Given the description of an element on the screen output the (x, y) to click on. 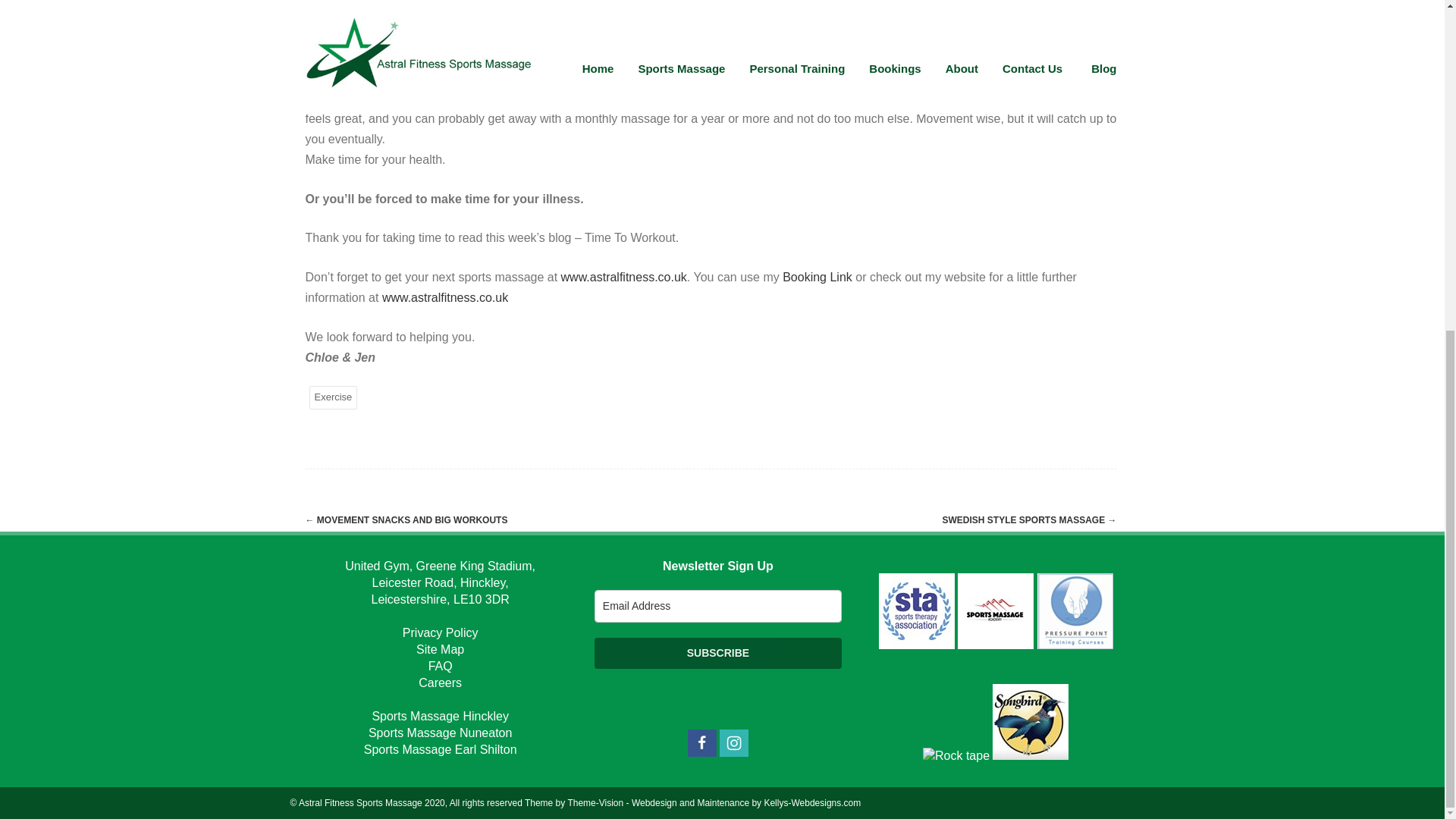
www.astralfitness.co.uk (623, 277)
Exercise (333, 396)
Booking Link (817, 277)
www.astralfitness.co.uk (444, 297)
